Given the description of an element on the screen output the (x, y) to click on. 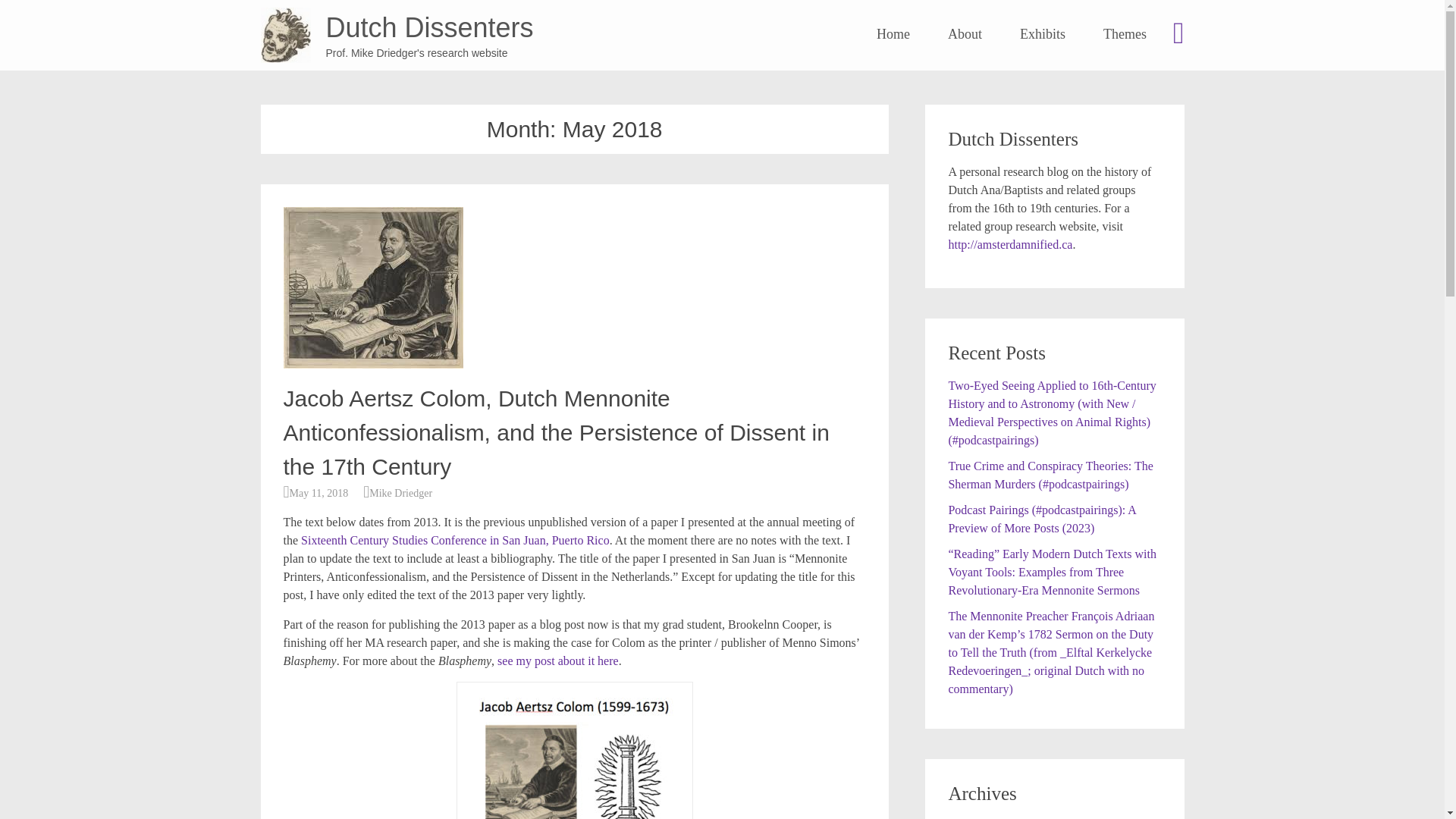
Dutch Dissenters (430, 27)
Dutch Dissenters (285, 35)
Mike Driedger (400, 492)
Home (892, 33)
see my post about it here (557, 660)
May 11, 2018 (319, 492)
Exhibits (1042, 33)
Themes (1125, 33)
